Given the description of an element on the screen output the (x, y) to click on. 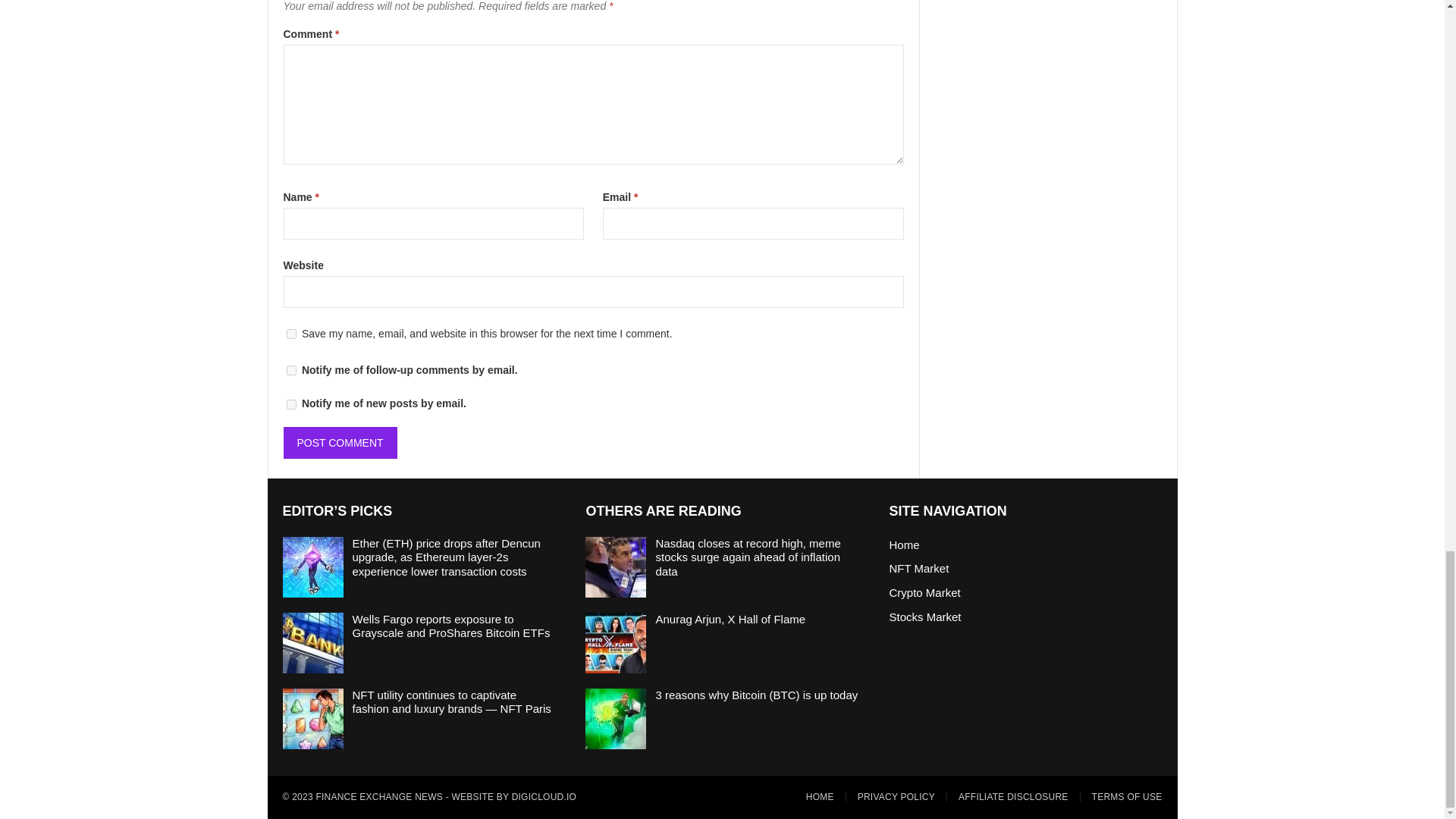
Post Comment (340, 441)
subscribe (291, 370)
yes (291, 334)
Post Comment (340, 441)
subscribe (291, 404)
